Given the description of an element on the screen output the (x, y) to click on. 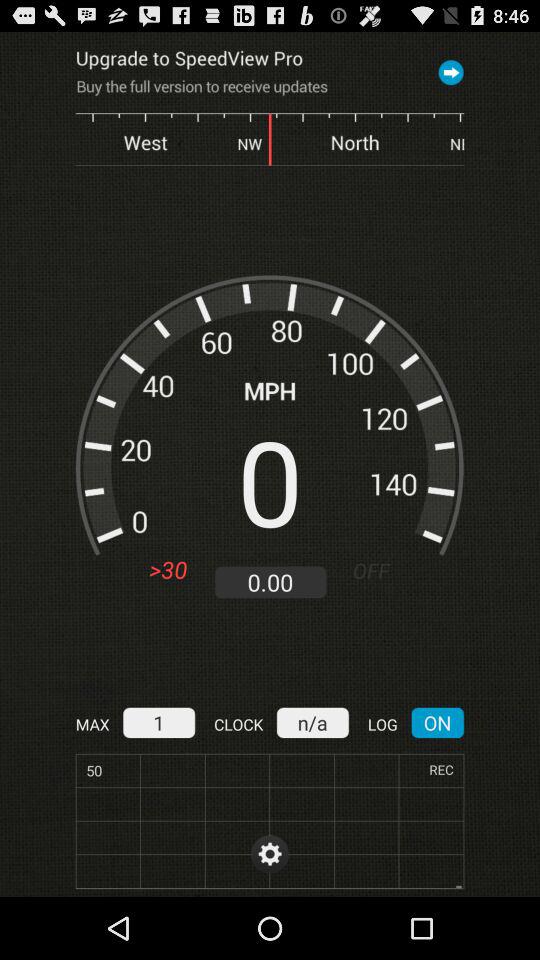
press item below the n/a (269, 854)
